Given the description of an element on the screen output the (x, y) to click on. 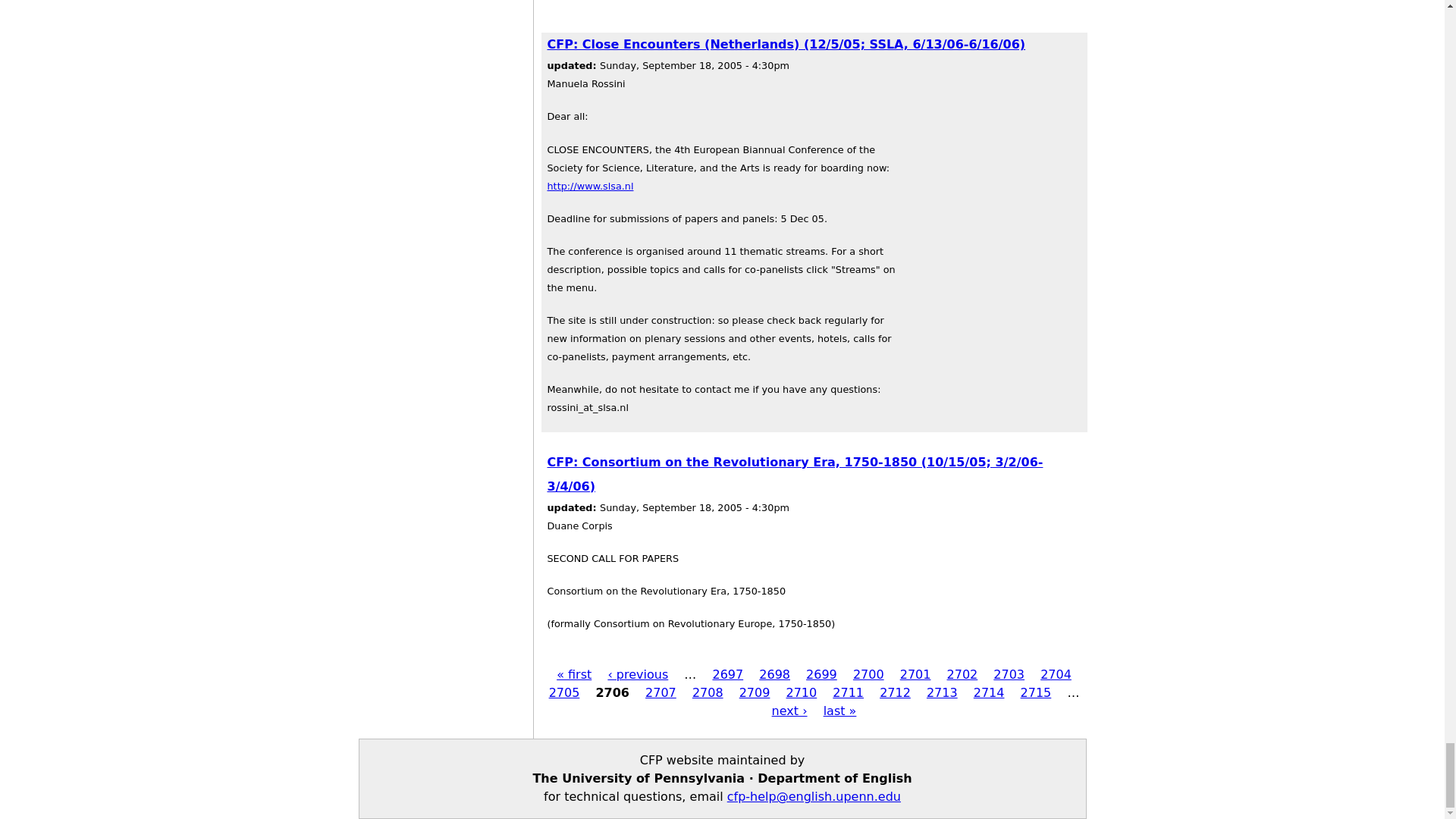
Go to page 2710 (801, 692)
Go to page 2705 (563, 692)
Go to page 2697 (726, 674)
Go to page 2715 (1035, 692)
Go to page 2714 (989, 692)
Go to page 2707 (661, 692)
Go to previous page (637, 674)
Go to page 2708 (708, 692)
Go to page 2698 (774, 674)
Go to page 2712 (895, 692)
Go to page 2709 (754, 692)
Go to page 2700 (868, 674)
Go to page 2701 (915, 674)
Go to page 2702 (962, 674)
Go to first page (573, 674)
